Given the description of an element on the screen output the (x, y) to click on. 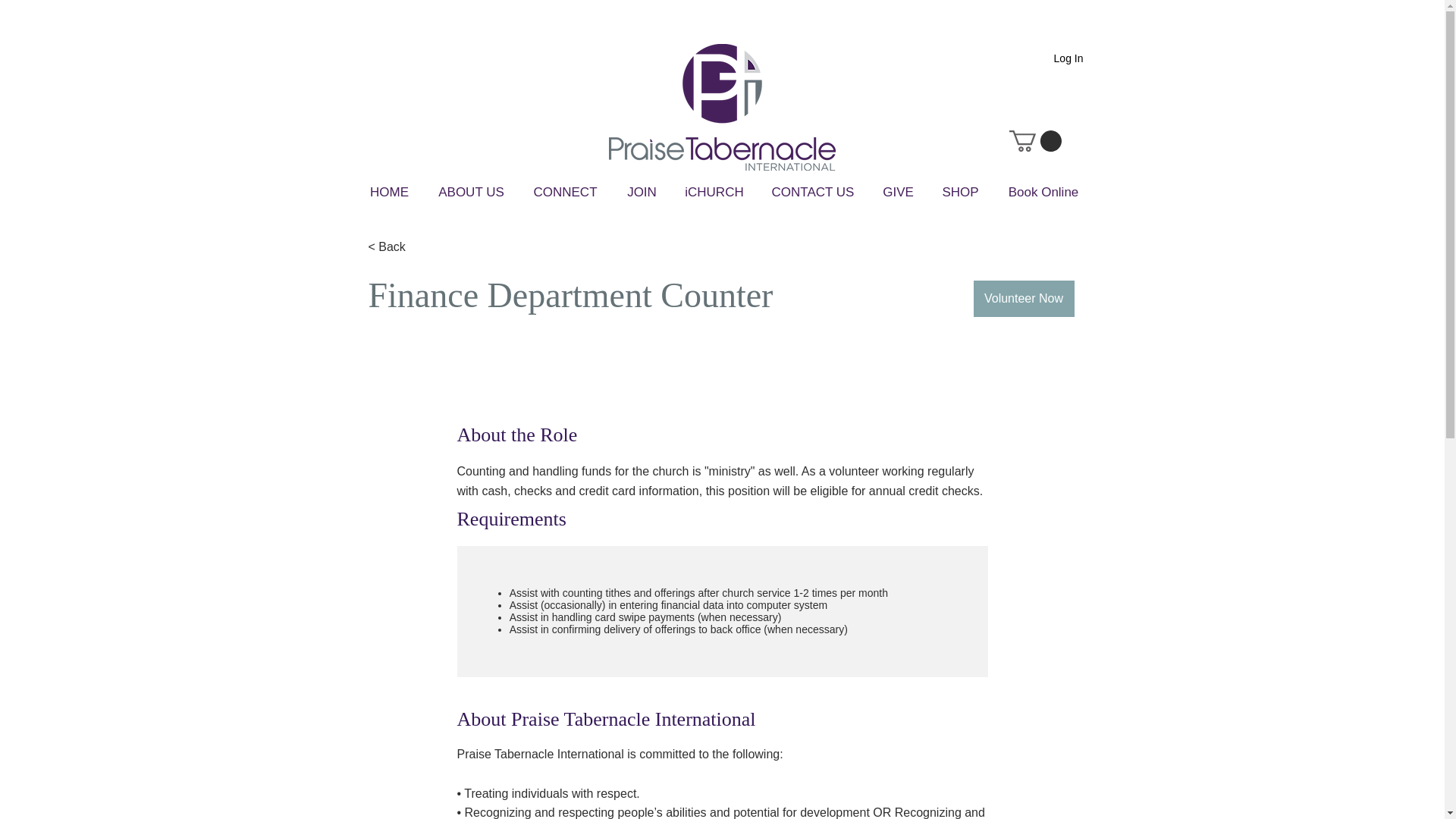
JOIN (641, 192)
Volunteer Now (1024, 298)
SHOP (960, 192)
Book Online (1043, 192)
CONNECT (565, 192)
Log In (1068, 58)
CONTACT US (812, 192)
ABOUT US (471, 192)
GIVE (898, 192)
HOME (390, 192)
iCHURCH (714, 192)
